Given the description of an element on the screen output the (x, y) to click on. 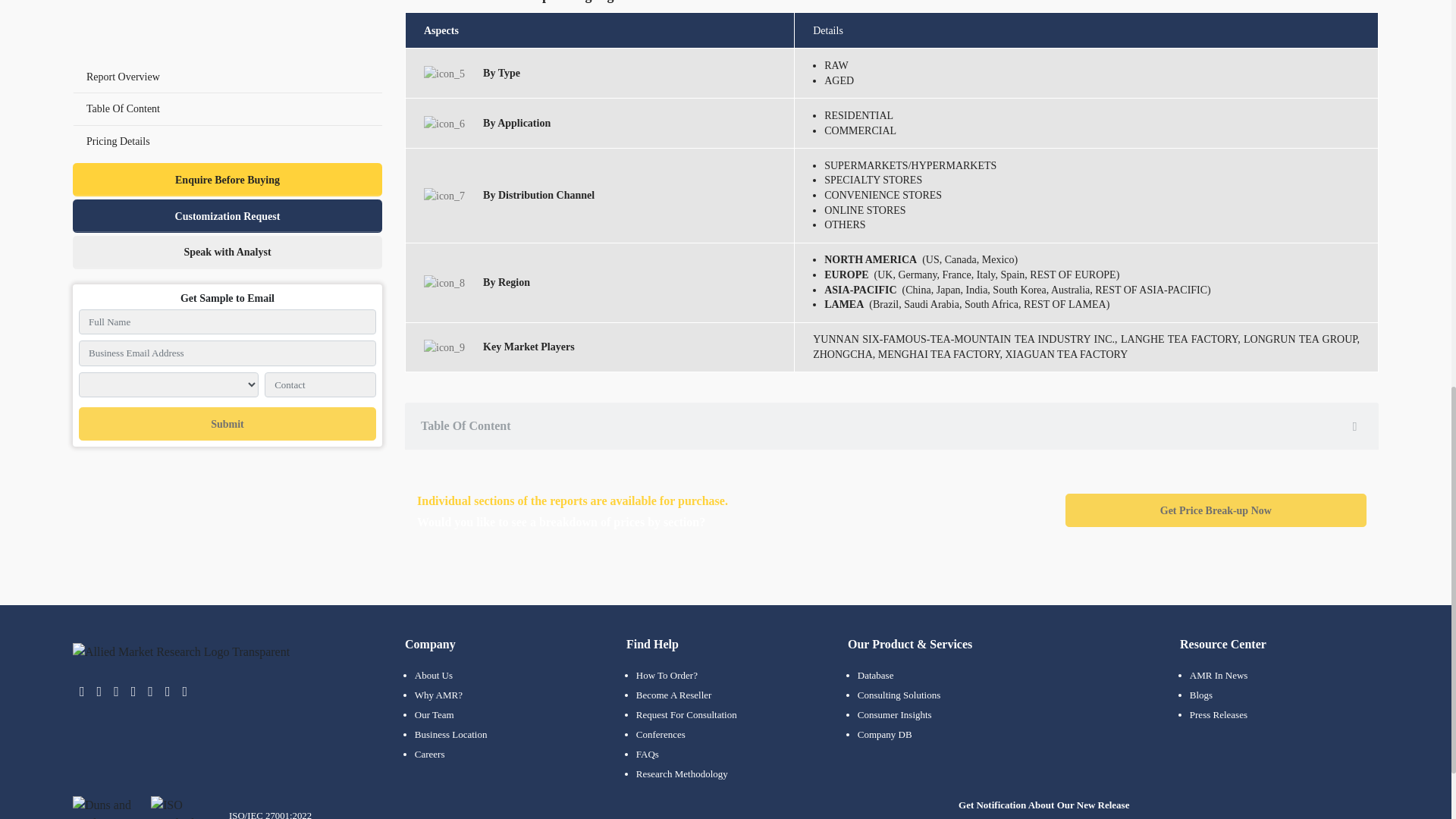
Pu-erh Tea Market By Type (443, 73)
Allied Market Research Footer Logo (180, 651)
Pu-erh Tea Market By Application (443, 123)
Key Market Players (443, 347)
Get Price Break-up Now (1216, 510)
Table Of Content (891, 425)
Pu-erh Tea Market By Region (443, 283)
Submit (226, 5)
Pu-erh Tea Market By Distribution Channel (443, 195)
